Given the description of an element on the screen output the (x, y) to click on. 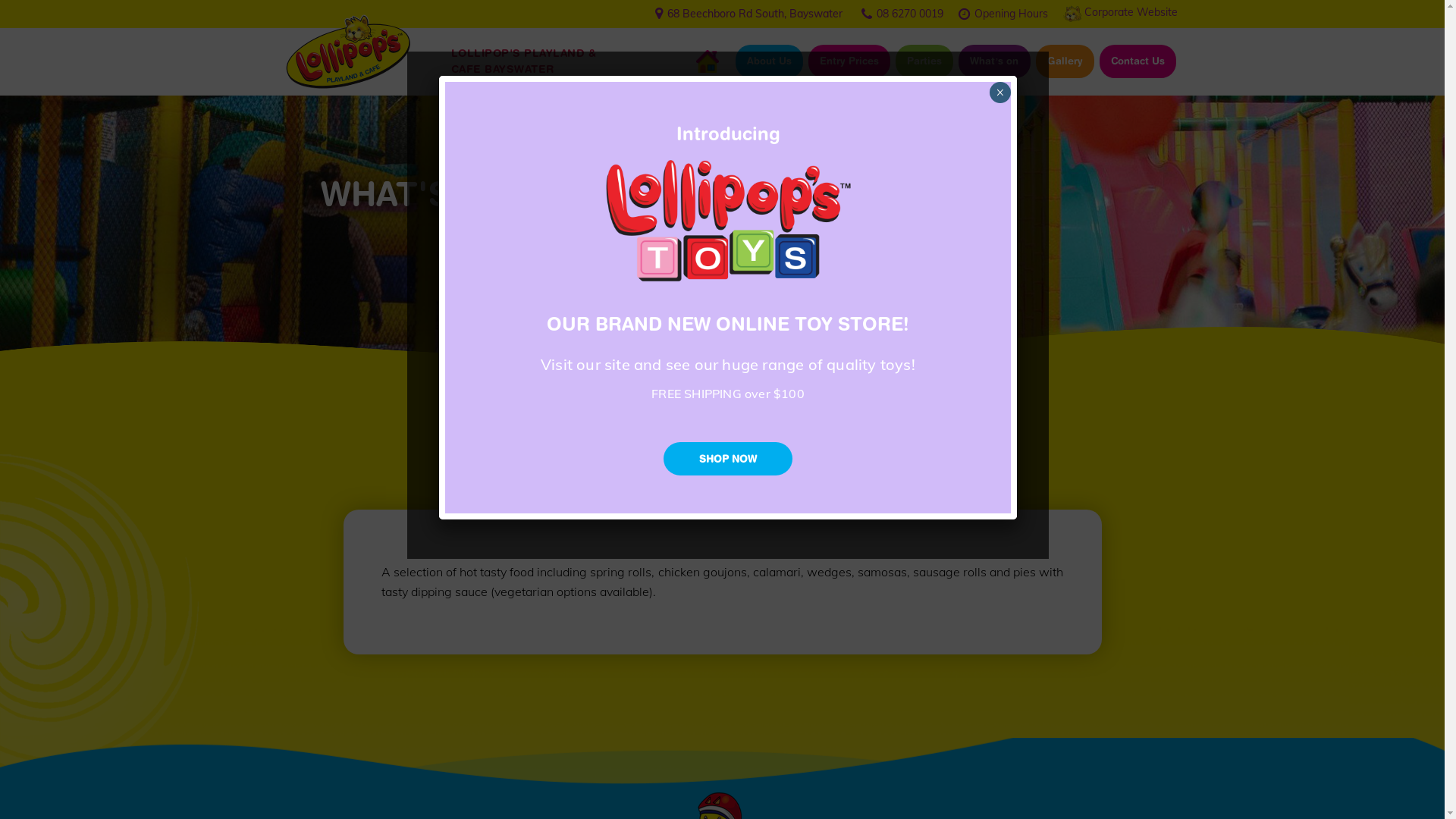
08 6270 0019 Element type: text (909, 12)
Contact Us Element type: text (1137, 61)
Entry Prices Element type: text (849, 61)
68 Beechboro Rd South, Bayswater Element type: text (754, 13)
Corporate Website Element type: text (1130, 11)
Parties Element type: text (924, 61)
Gallery Element type: text (1064, 61)
About Us Element type: text (769, 61)
Opening Hours Element type: text (1010, 12)
SHOP NOW Element type: text (727, 458)
Home Element type: text (707, 61)
